Given the description of an element on the screen output the (x, y) to click on. 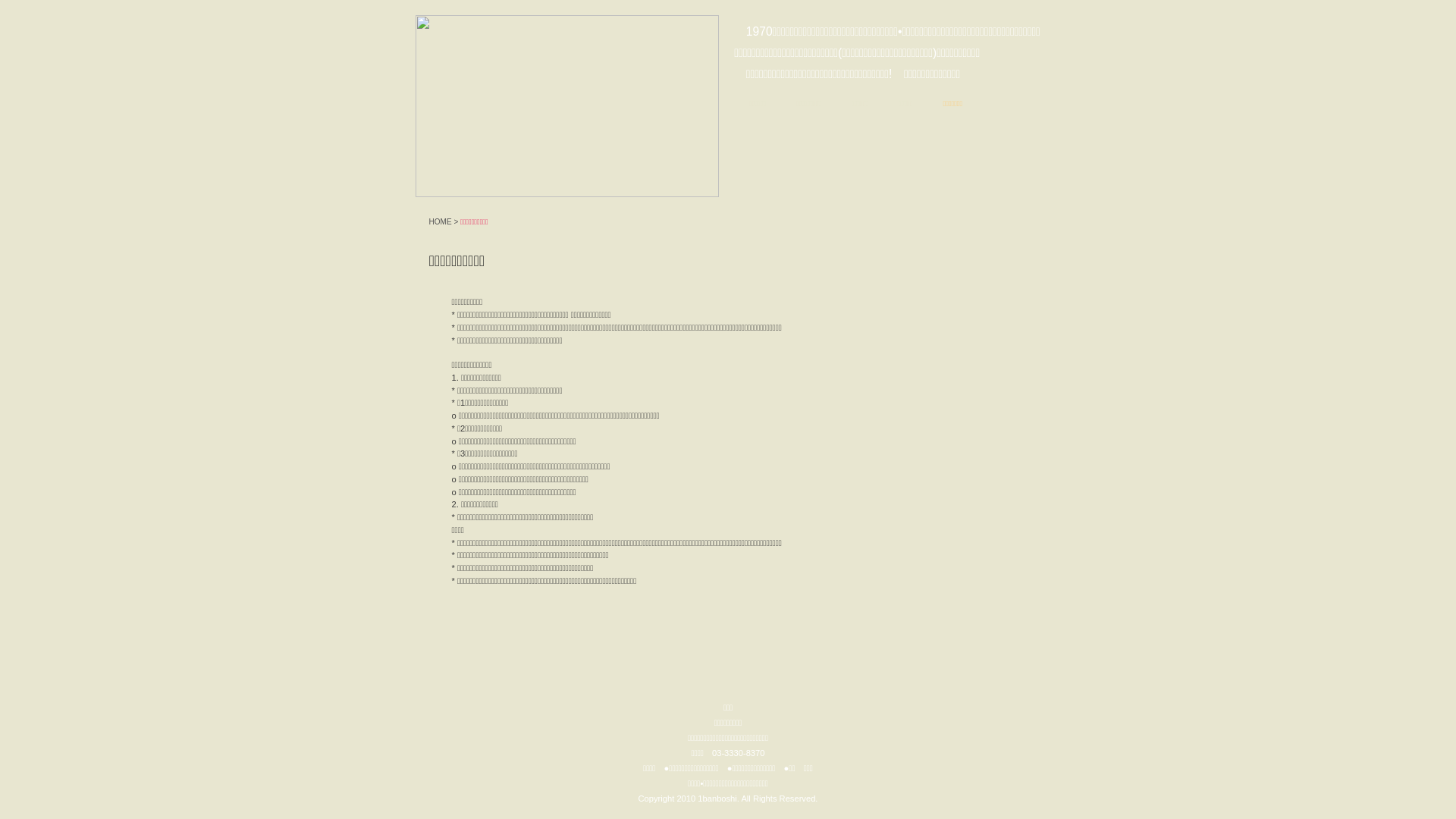
HOME Element type: text (440, 221)
